Given the description of an element on the screen output the (x, y) to click on. 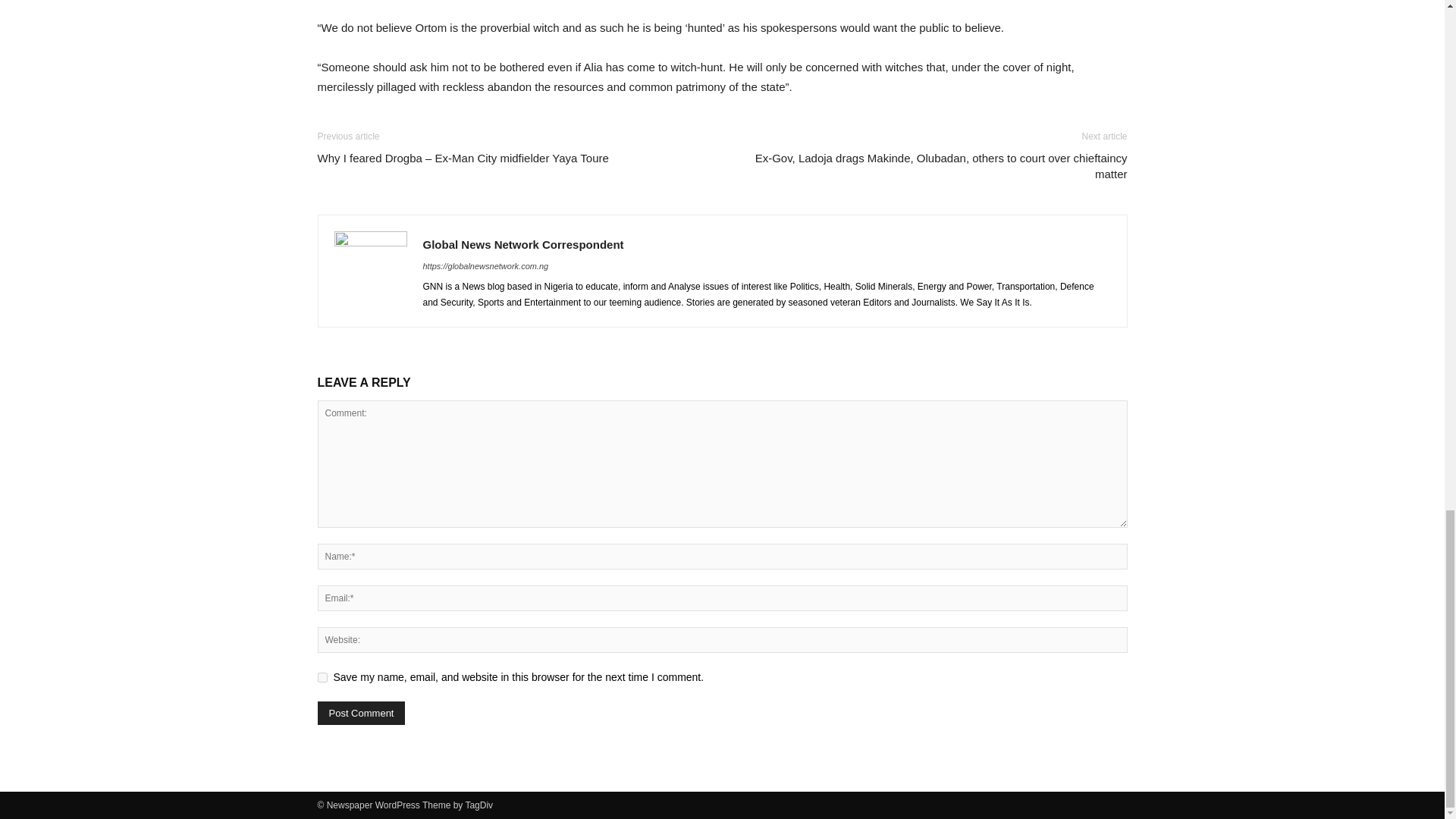
Post Comment (360, 712)
yes (321, 677)
Post Comment (360, 712)
Global News Network Correspondent (523, 244)
